Given the description of an element on the screen output the (x, y) to click on. 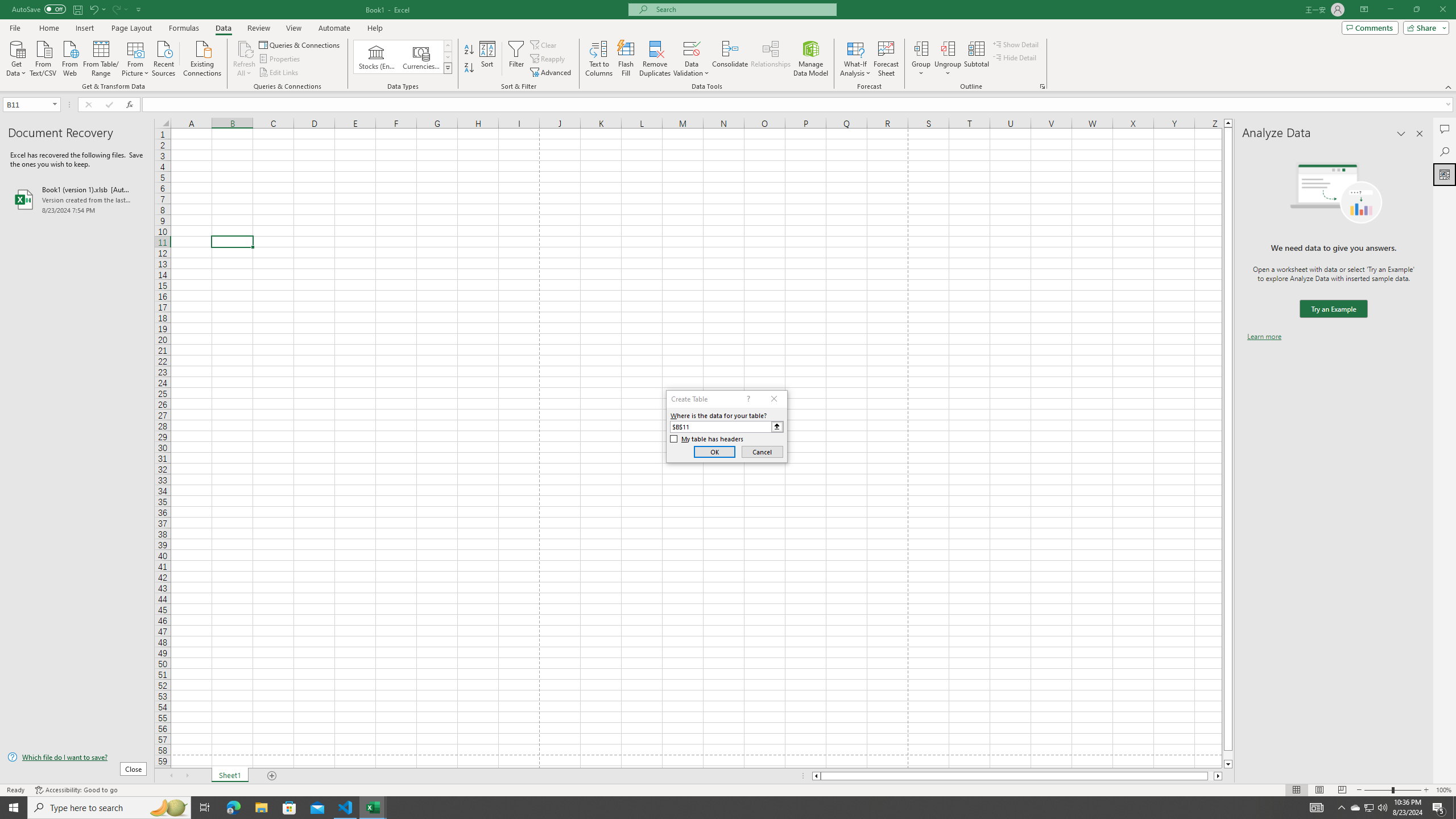
Search (1444, 151)
Book1 (version 1).xlsb  [AutoRecovered] (77, 199)
Learn more (1264, 336)
What-If Analysis (855, 58)
Which file do I want to save? (77, 757)
Automate (334, 28)
Data Validation... (691, 58)
Ungroup... (947, 58)
Row Down (448, 56)
Subtotal (976, 58)
